Given the description of an element on the screen output the (x, y) to click on. 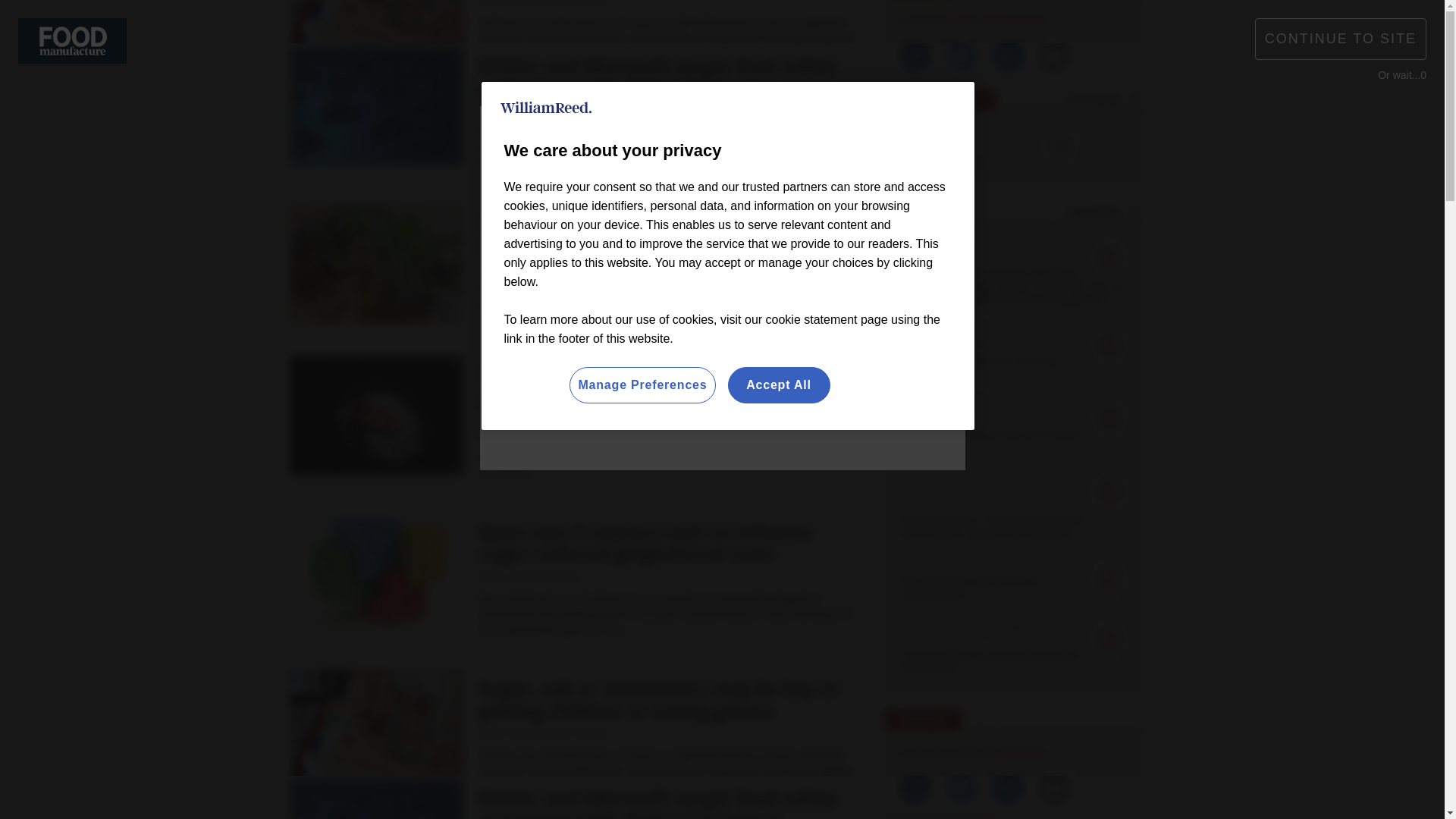
REGISTER (1110, 20)
William Reed (545, 107)
My account (1114, 20)
FoodManufacture (71, 39)
CONTINUE TO SITE (1340, 38)
Sign in (1029, 20)
Send (1129, 90)
Trending (370, 159)
Send (1129, 89)
Expertise (445, 159)
Sign out (1032, 20)
Home (314, 159)
FoodManufacture (367, 89)
